Given the description of an element on the screen output the (x, y) to click on. 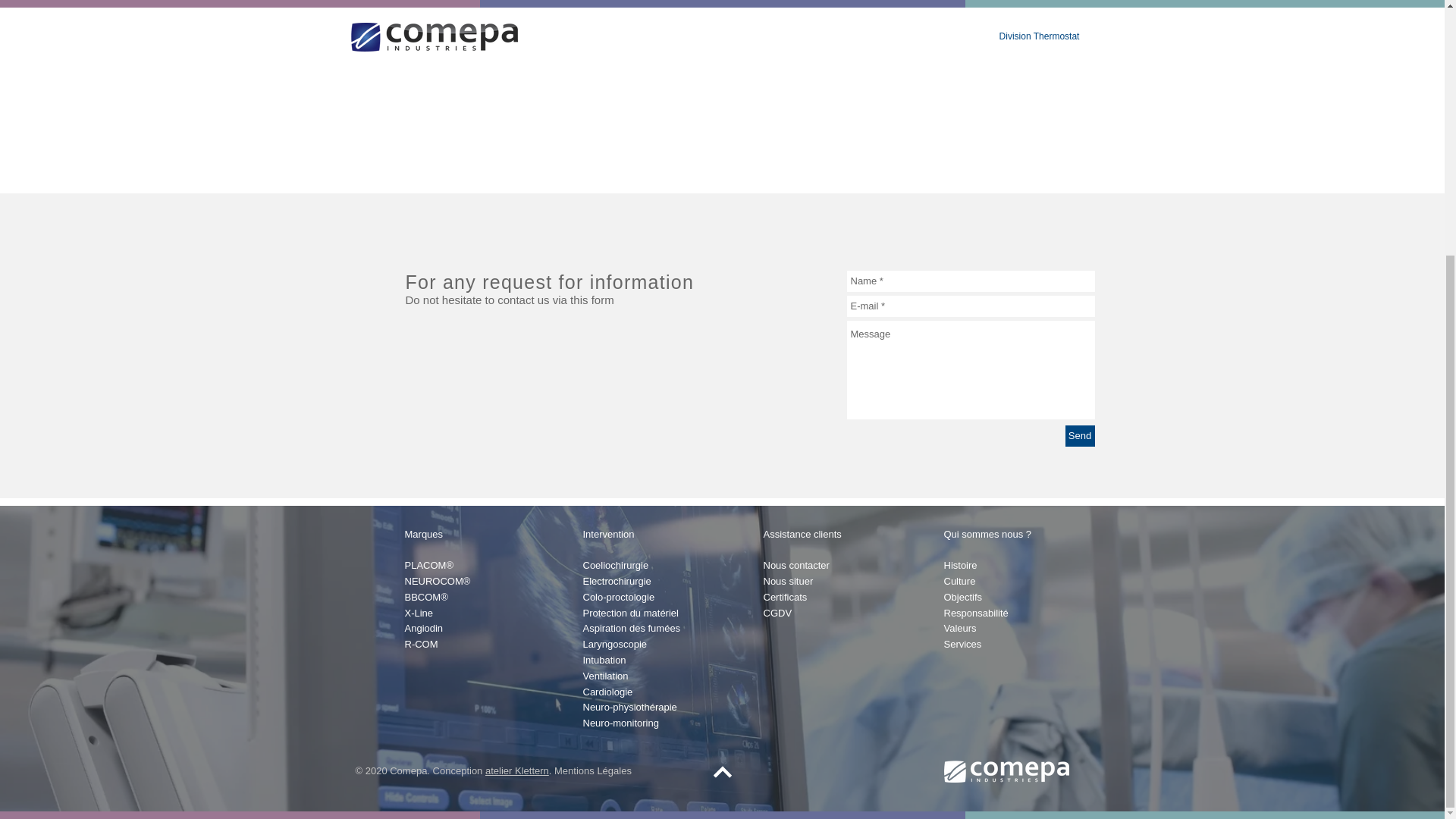
Laryngoscopie (614, 644)
Colo-proctologie (617, 596)
Intubation (604, 659)
Angiodin (424, 627)
Ventilation (604, 675)
Cardiologie (606, 691)
X-Line (418, 613)
Certificats (784, 596)
Culture (959, 581)
Electrochirurgie (616, 581)
Neuro-monitoring (620, 722)
CGDV (777, 613)
R-COM (421, 644)
Nous situer (787, 581)
Objectifs (962, 596)
